Given the description of an element on the screen output the (x, y) to click on. 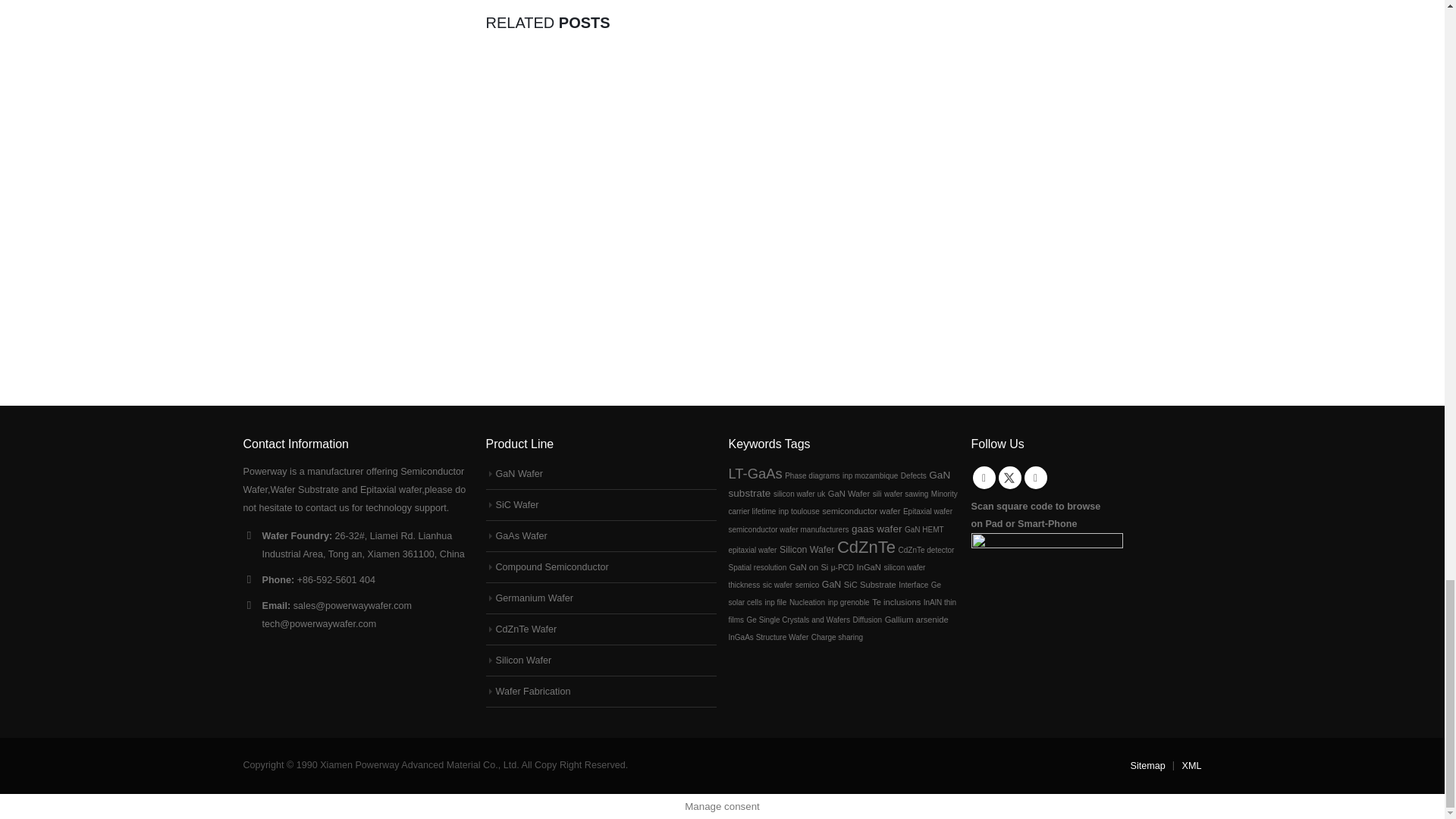
9 topics (754, 473)
2 topics (799, 493)
2 topics (913, 475)
2 topics (870, 475)
1 topics (812, 475)
5 topics (839, 483)
